Given the description of an element on the screen output the (x, y) to click on. 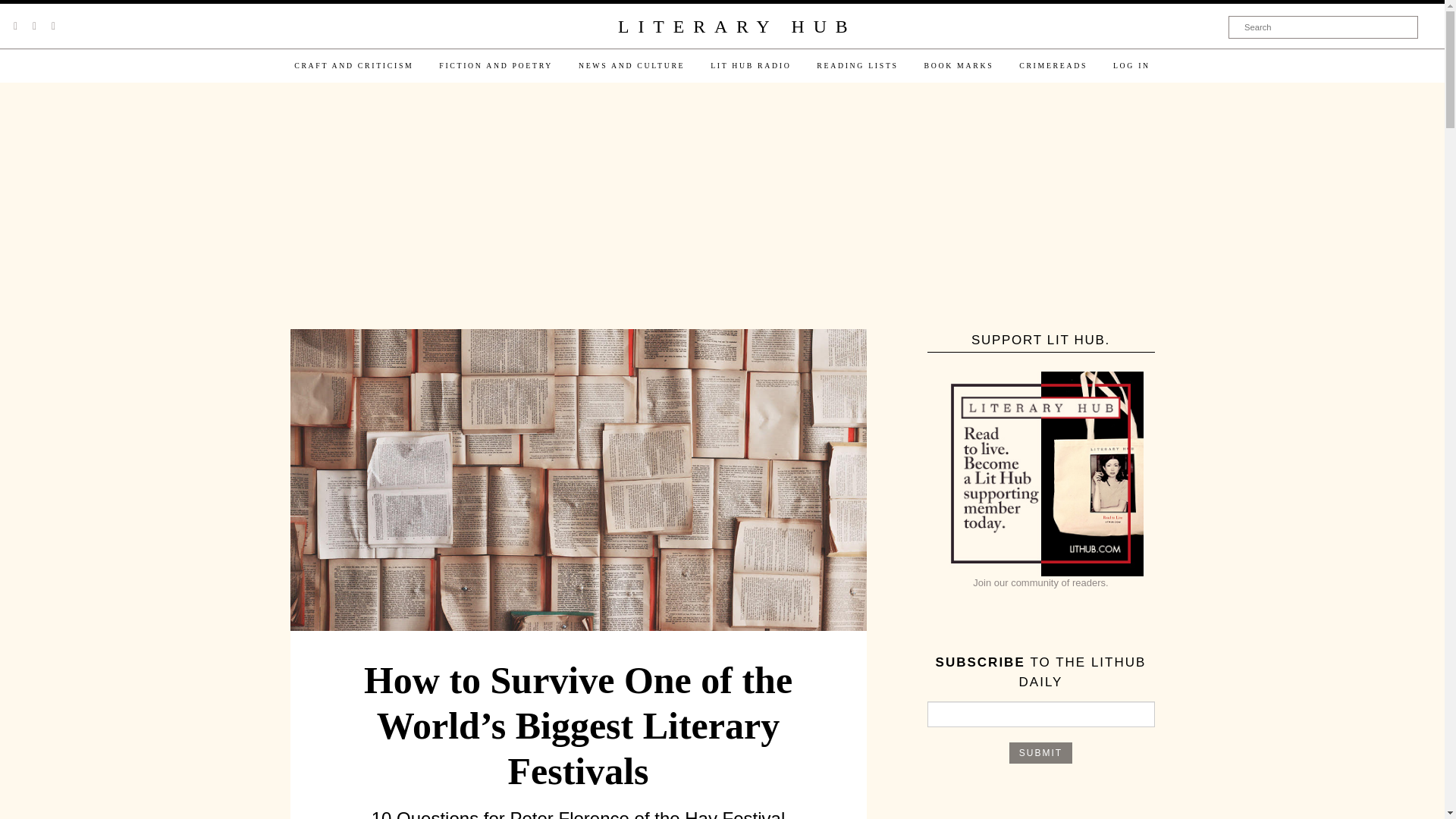
Search (1323, 26)
FICTION AND POETRY (496, 65)
NEWS AND CULTURE (631, 65)
CRAFT AND CRITICISM (353, 65)
LITERARY HUB (736, 26)
